Given the description of an element on the screen output the (x, y) to click on. 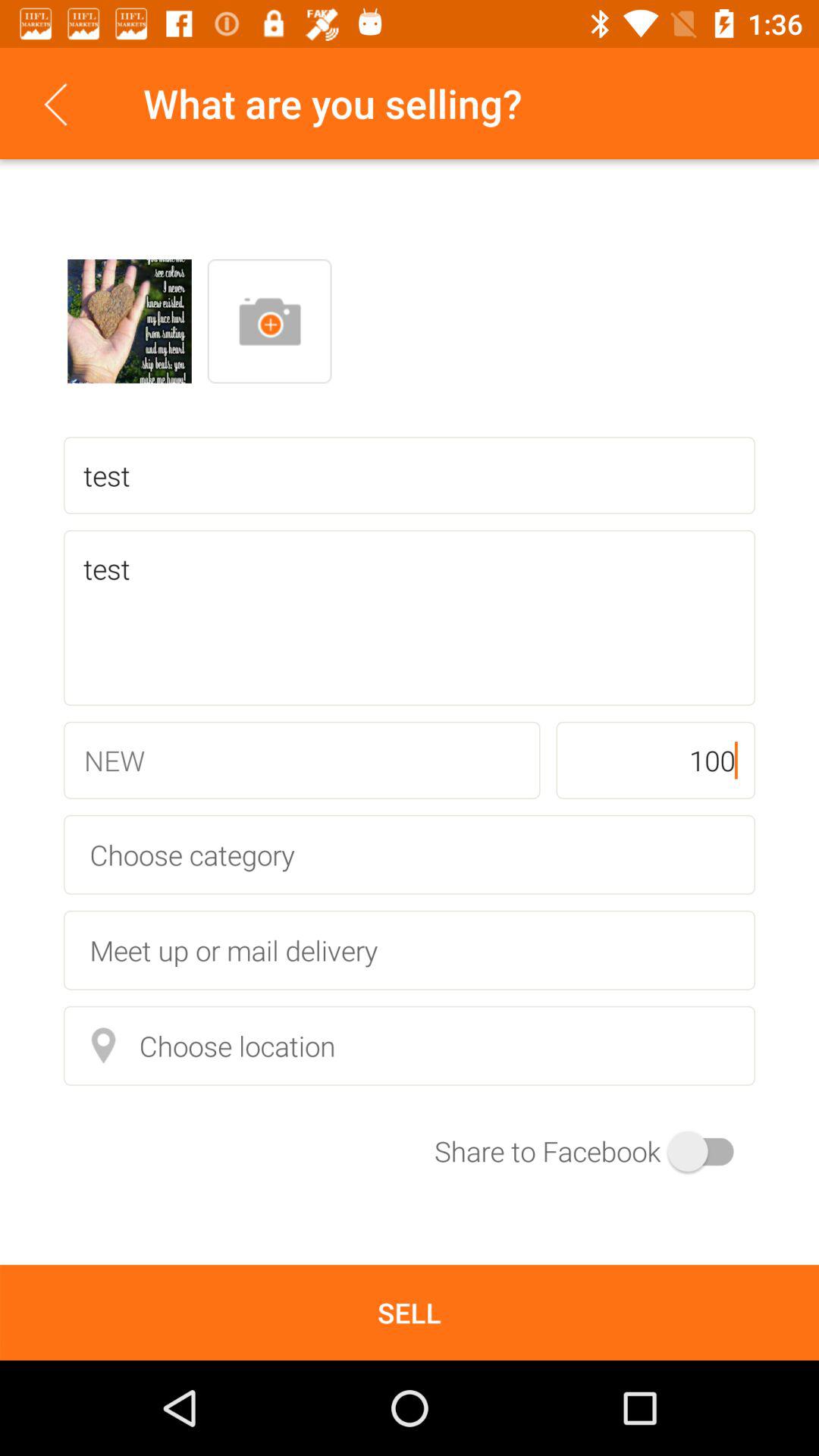
jump until choose location icon (409, 1045)
